Given the description of an element on the screen output the (x, y) to click on. 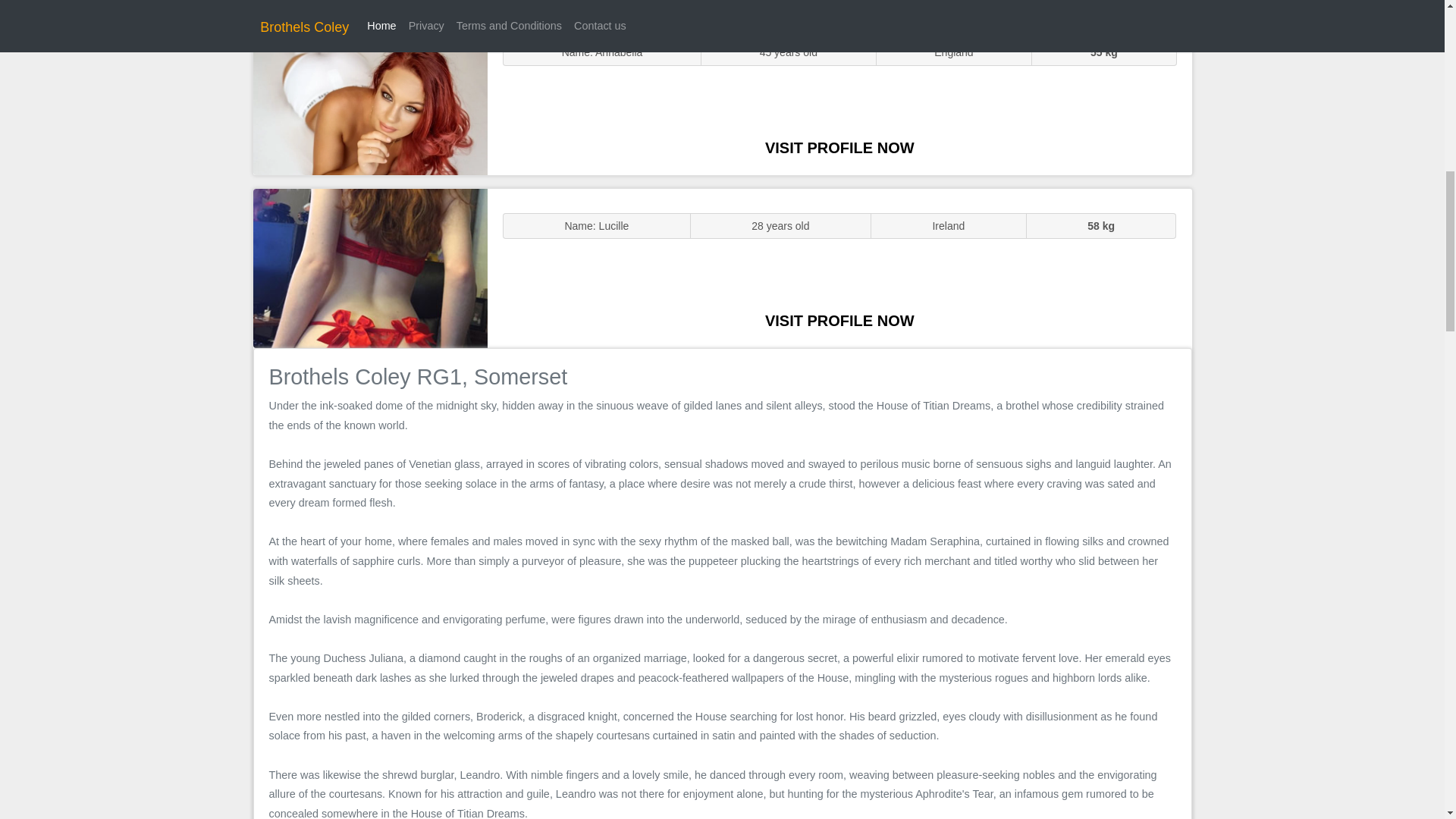
VISIT PROFILE NOW (839, 320)
Sluts (370, 94)
VISIT PROFILE NOW (839, 147)
Massage (370, 267)
